Given the description of an element on the screen output the (x, y) to click on. 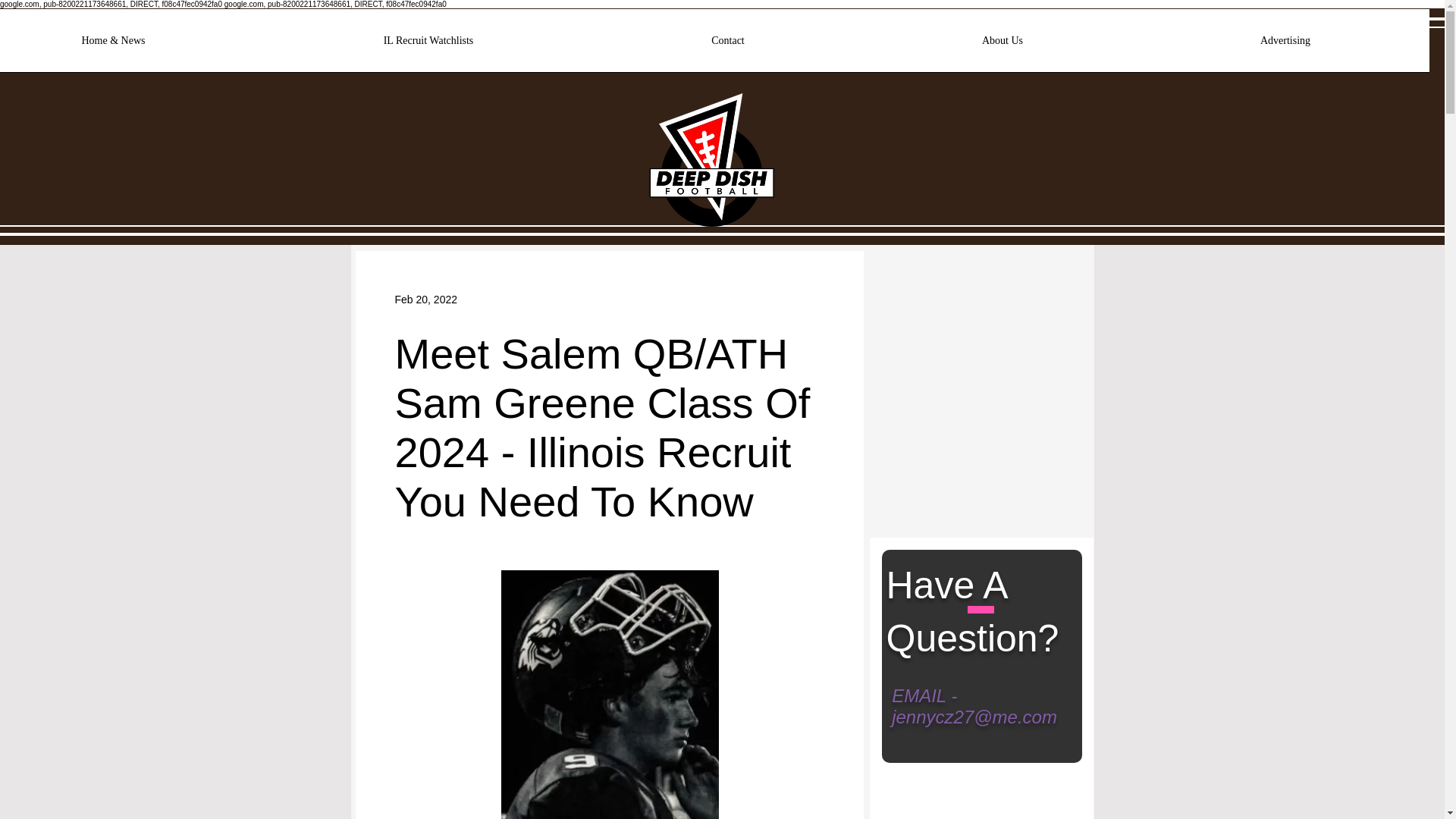
Contact (727, 45)
Advertising (1285, 45)
Twitter Follow (932, 289)
IL Recruit Watchlists (427, 45)
About Us (1002, 45)
Feb 20, 2022 (425, 298)
